Given the description of an element on the screen output the (x, y) to click on. 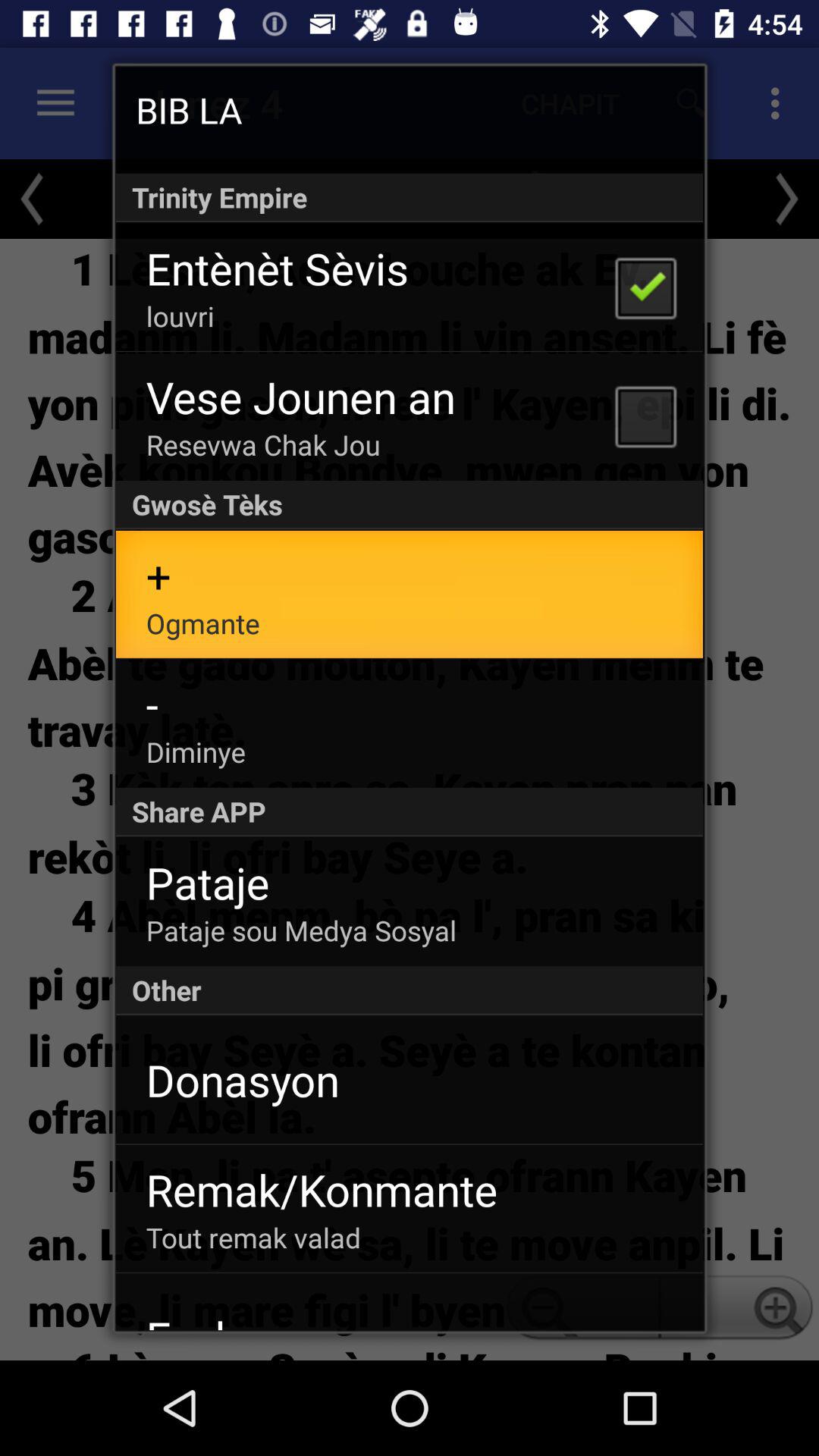
open the icon below pataje sou medya app (409, 990)
